Given the description of an element on the screen output the (x, y) to click on. 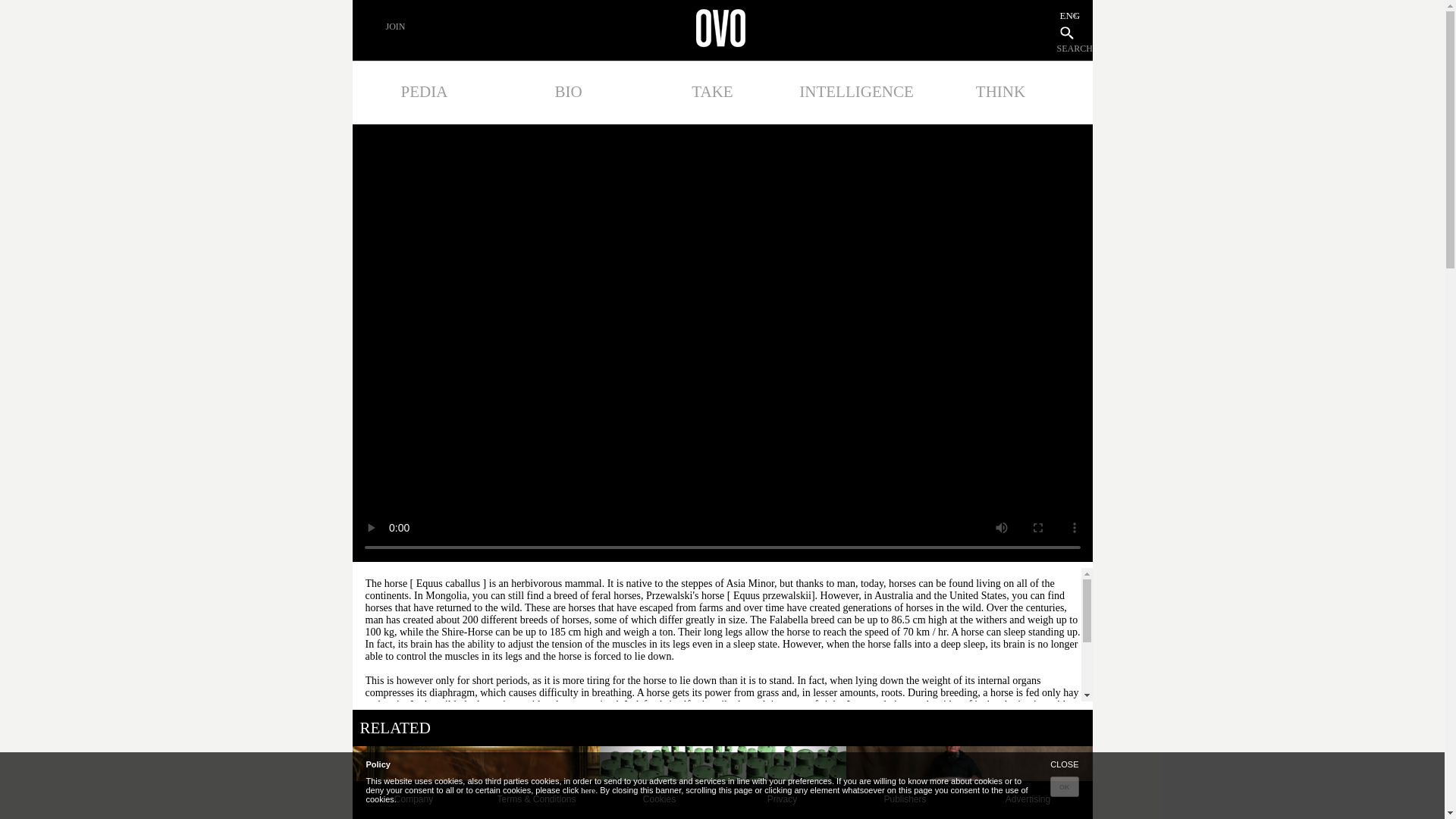
INTELLIGENCE (856, 91)
THINK (999, 91)
SEARCH (1075, 48)
BIO (568, 91)
TAKE (712, 91)
PEDIA (424, 91)
OK (1063, 786)
ENG (1068, 15)
here (587, 789)
